Given the description of an element on the screen output the (x, y) to click on. 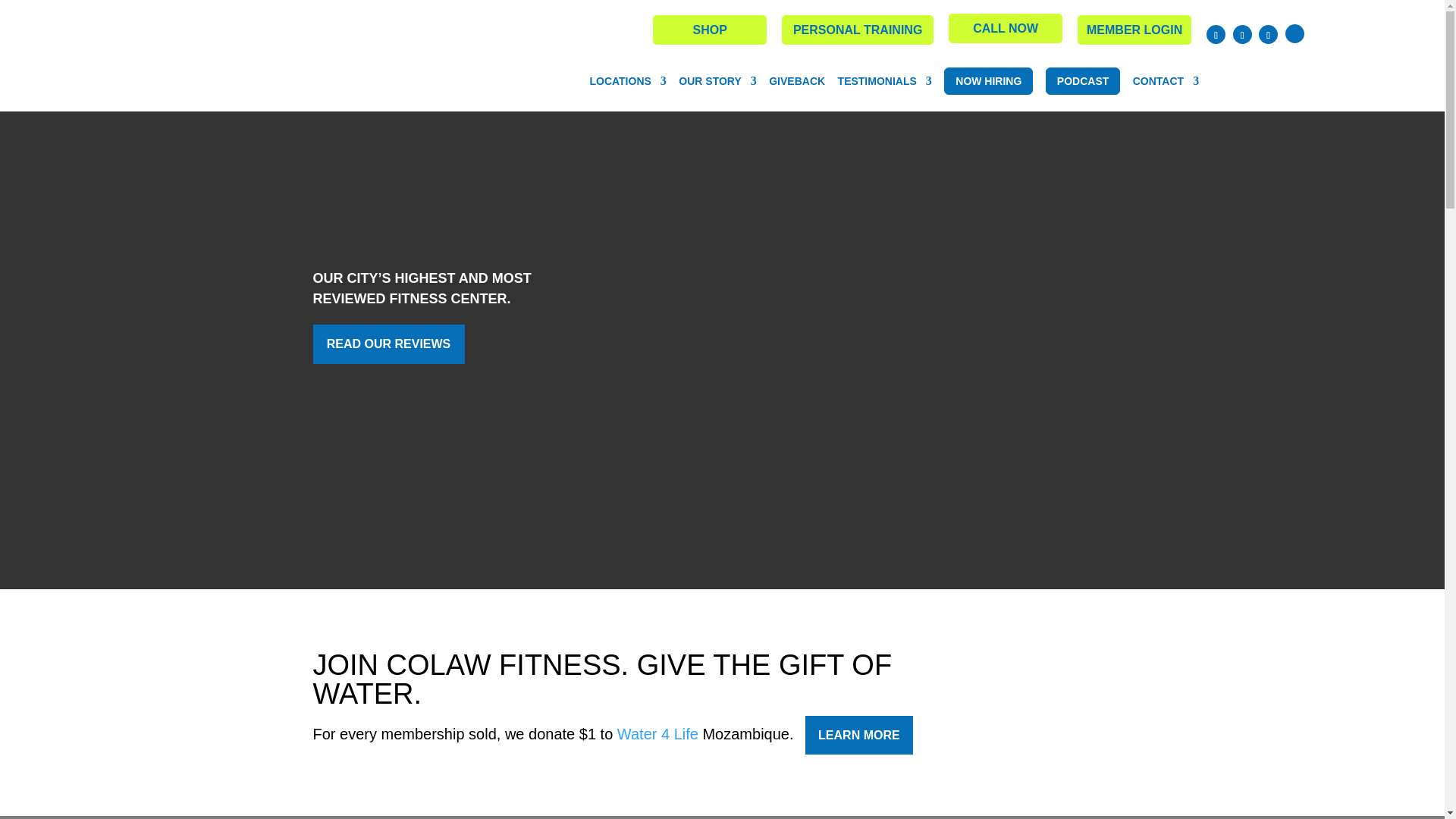
Water 4 Life (657, 733)
LOCATIONS (627, 81)
READ OUR REVIEWS (388, 343)
CALL NOW (1005, 28)
PERSONAL TRAINING (857, 30)
PODCAST (1082, 81)
TESTIMONIALS (884, 81)
OUR STORY (716, 81)
GIVEBACK (796, 81)
CONTACT (1165, 81)
